Given the description of an element on the screen output the (x, y) to click on. 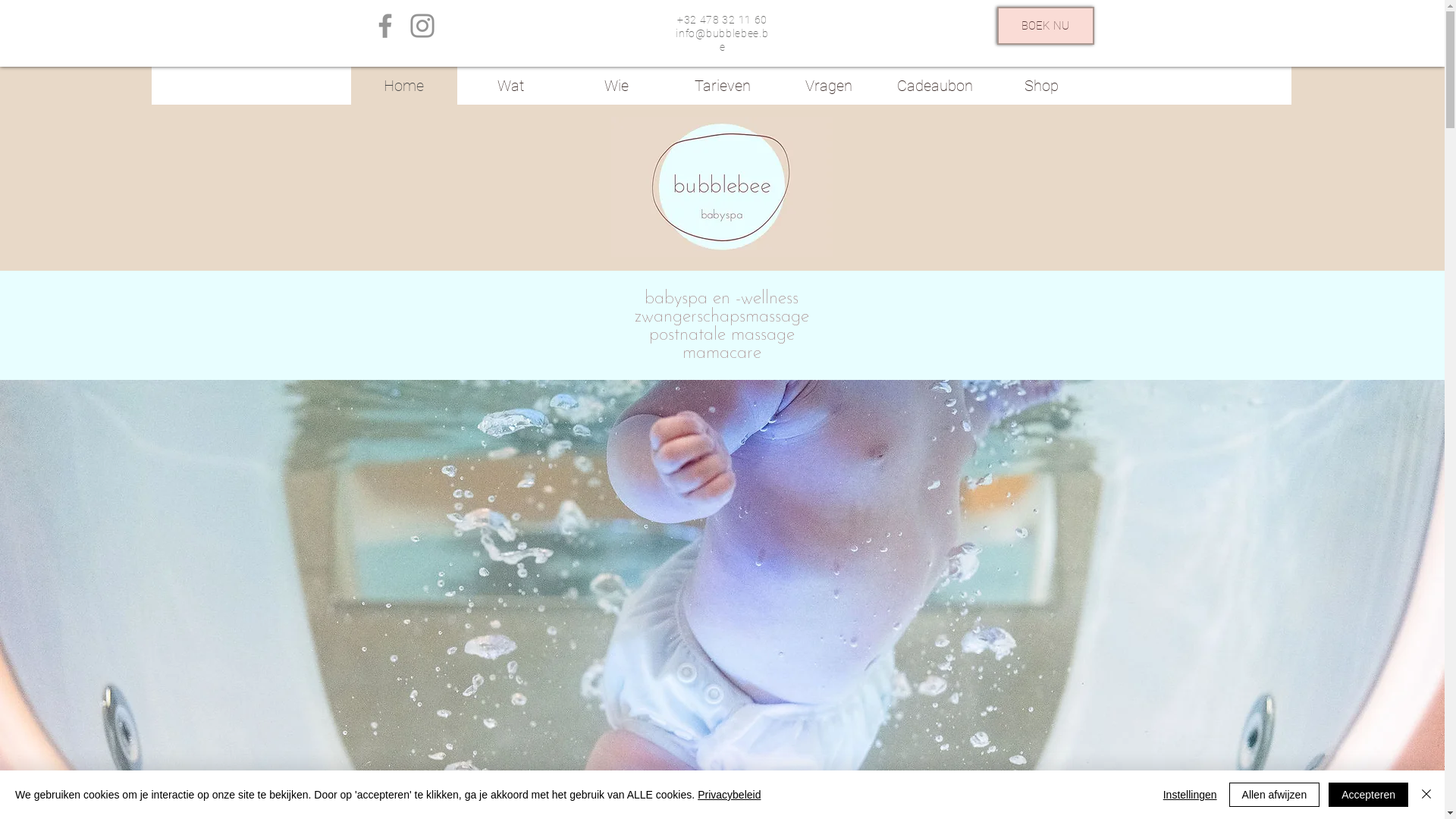
Cadeaubon Element type: text (934, 85)
Allen afwijzen Element type: text (1274, 794)
Home Element type: text (403, 85)
info@bubblebee.be Element type: text (721, 39)
Privacybeleid Element type: text (728, 794)
Accepteren Element type: text (1368, 794)
Wie Element type: text (615, 85)
BOEK NU Element type: text (1044, 25)
Vragen Element type: text (828, 85)
Wat Element type: text (509, 85)
Tarieven Element type: text (721, 85)
Shop Element type: text (1040, 85)
